Given the description of an element on the screen output the (x, y) to click on. 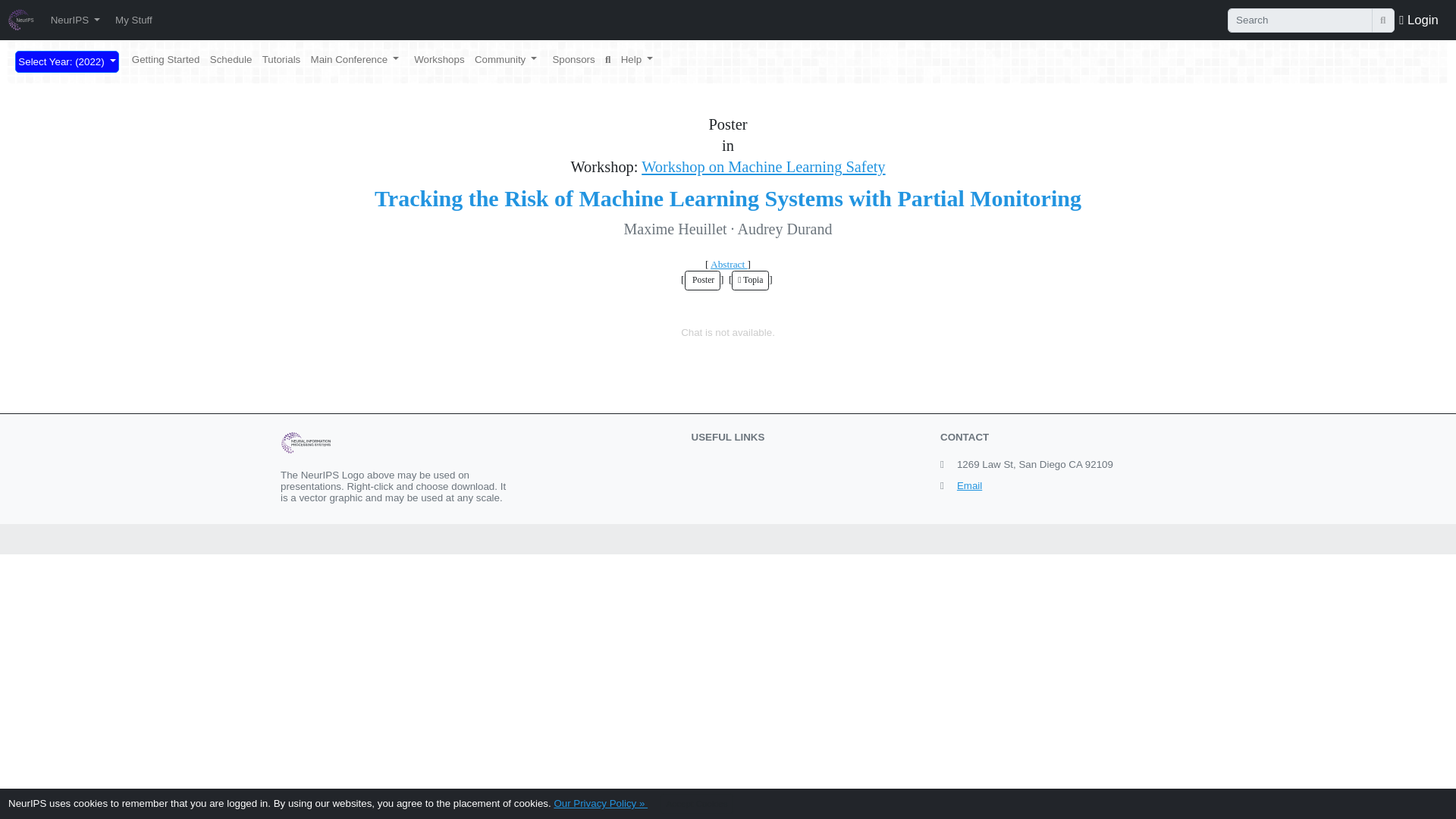
My Stuff (133, 20)
NeurIPS (74, 20)
Poster (702, 280)
Topia (750, 280)
Login (1418, 19)
